Given the description of an element on the screen output the (x, y) to click on. 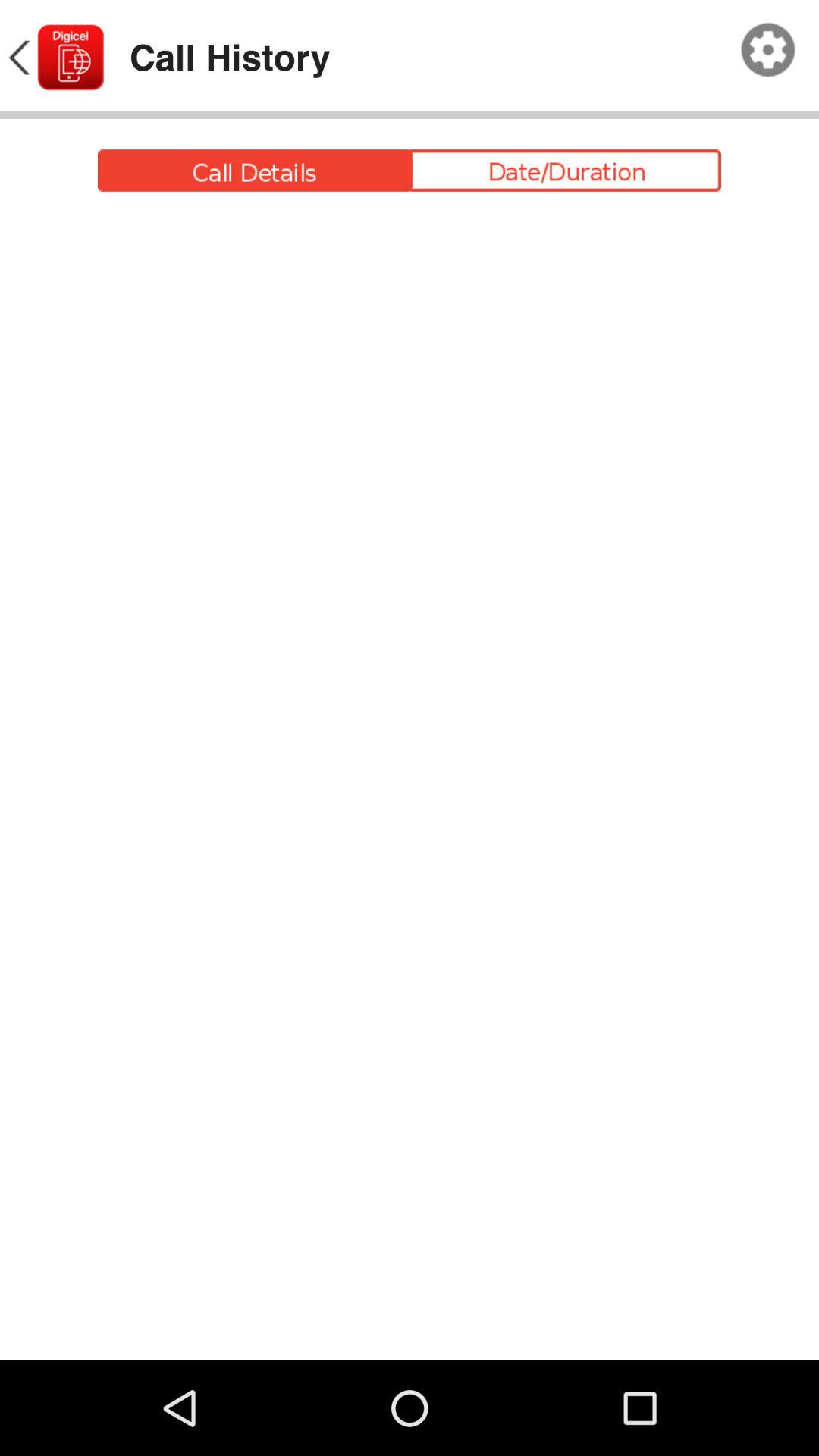
go back (54, 57)
